Given the description of an element on the screen output the (x, y) to click on. 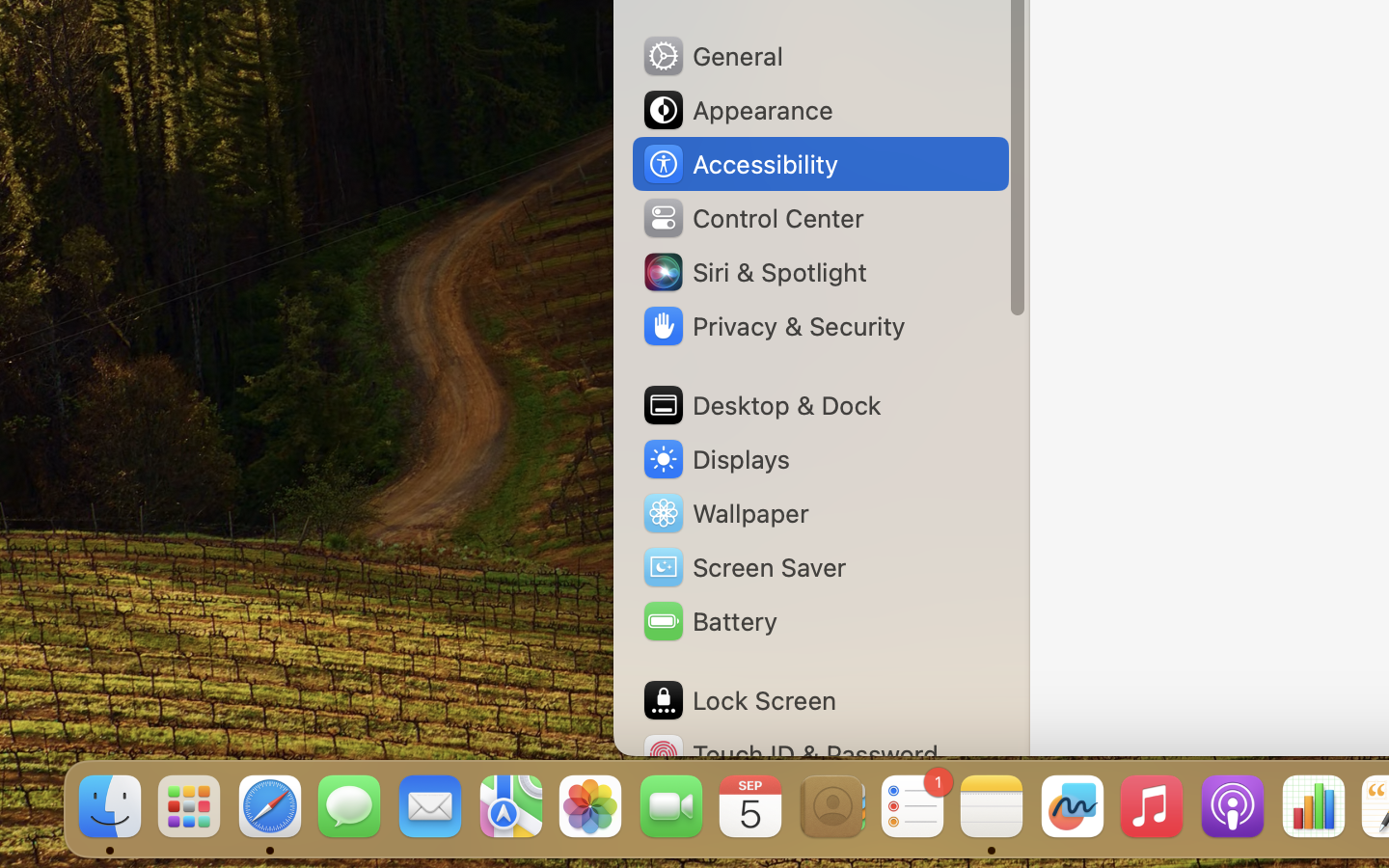
Screen Saver Element type: AXStaticText (743, 566)
Lock Screen Element type: AXStaticText (738, 700)
Touch ID & Password Element type: AXStaticText (789, 754)
